Given the description of an element on the screen output the (x, y) to click on. 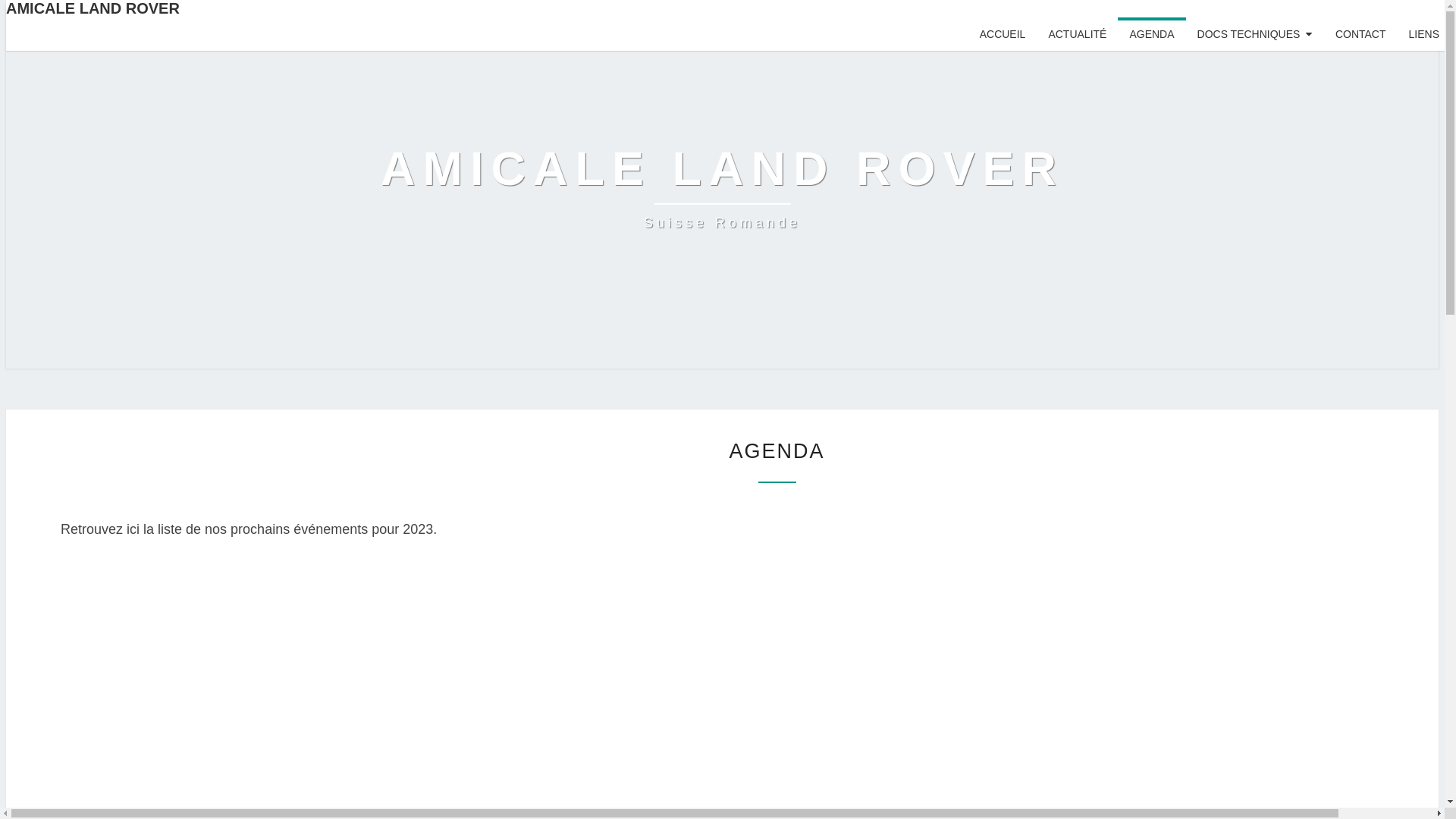
AGENDA Element type: text (1151, 33)
CONTACT Element type: text (1360, 33)
AMICALE LAND ROVER Element type: text (728, 8)
LIENS Element type: text (1423, 33)
ACCUEIL Element type: text (1002, 33)
DOCS TECHNIQUES Element type: text (1255, 33)
AMICALE LAND ROVER
Suisse Romande Element type: text (721, 187)
